Given the description of an element on the screen output the (x, y) to click on. 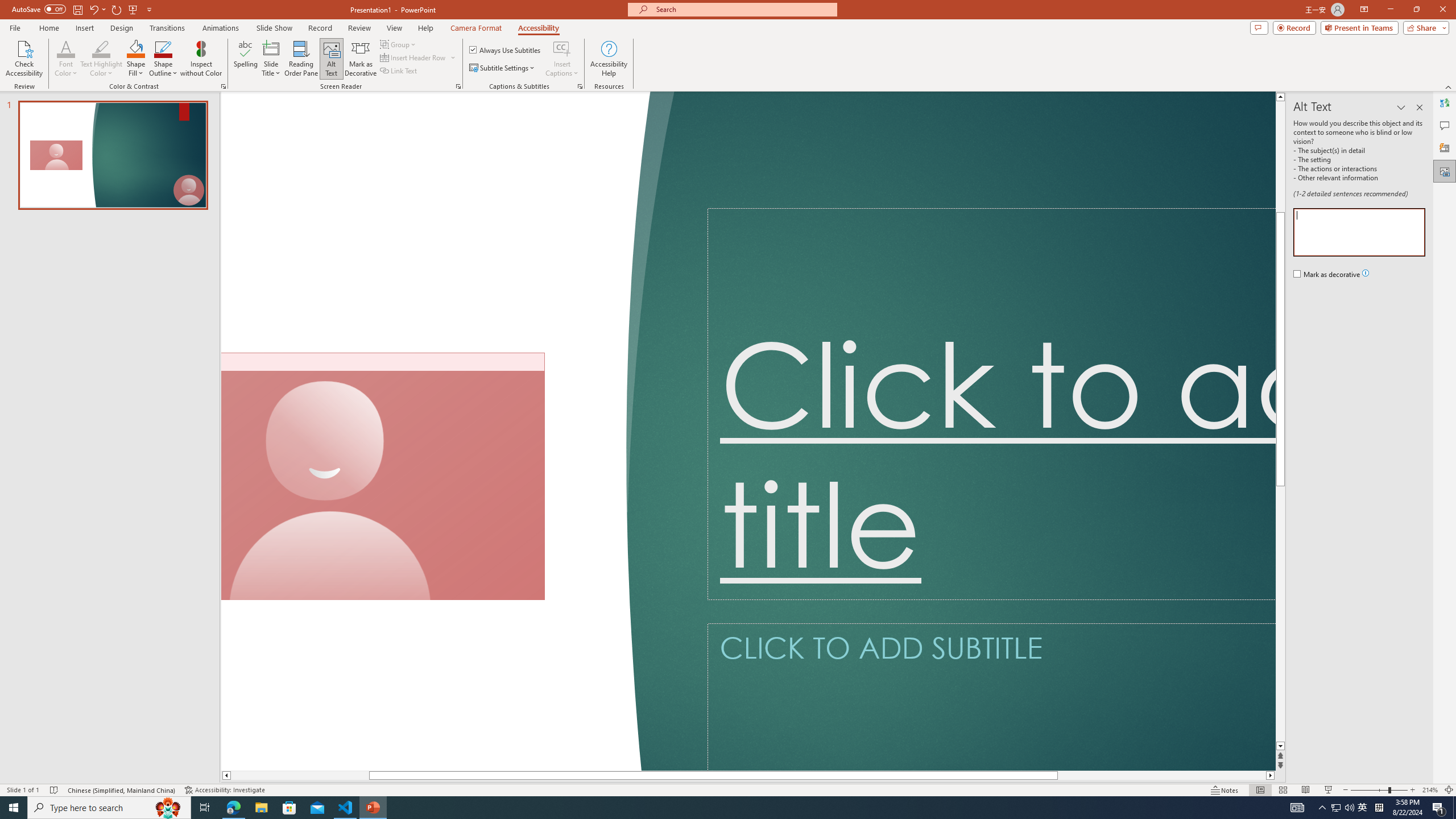
Accessibility Help (608, 58)
